Given the description of an element on the screen output the (x, y) to click on. 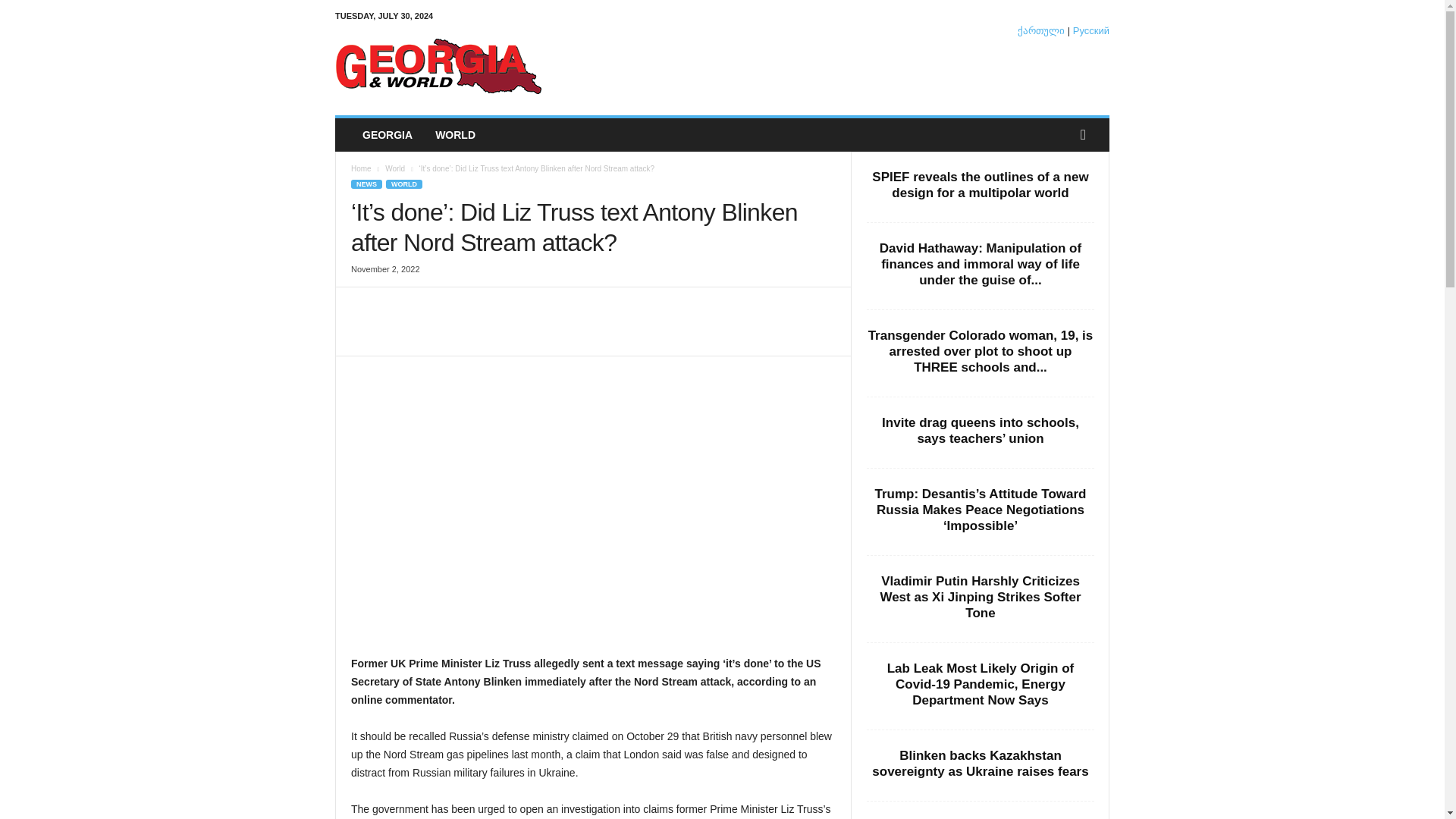
Geworld (437, 65)
Home (360, 168)
NEWS (365, 184)
WORLD (454, 134)
WORLD (403, 184)
GEORGIA (386, 134)
World (394, 168)
View all posts in World (394, 168)
